Given the description of an element on the screen output the (x, y) to click on. 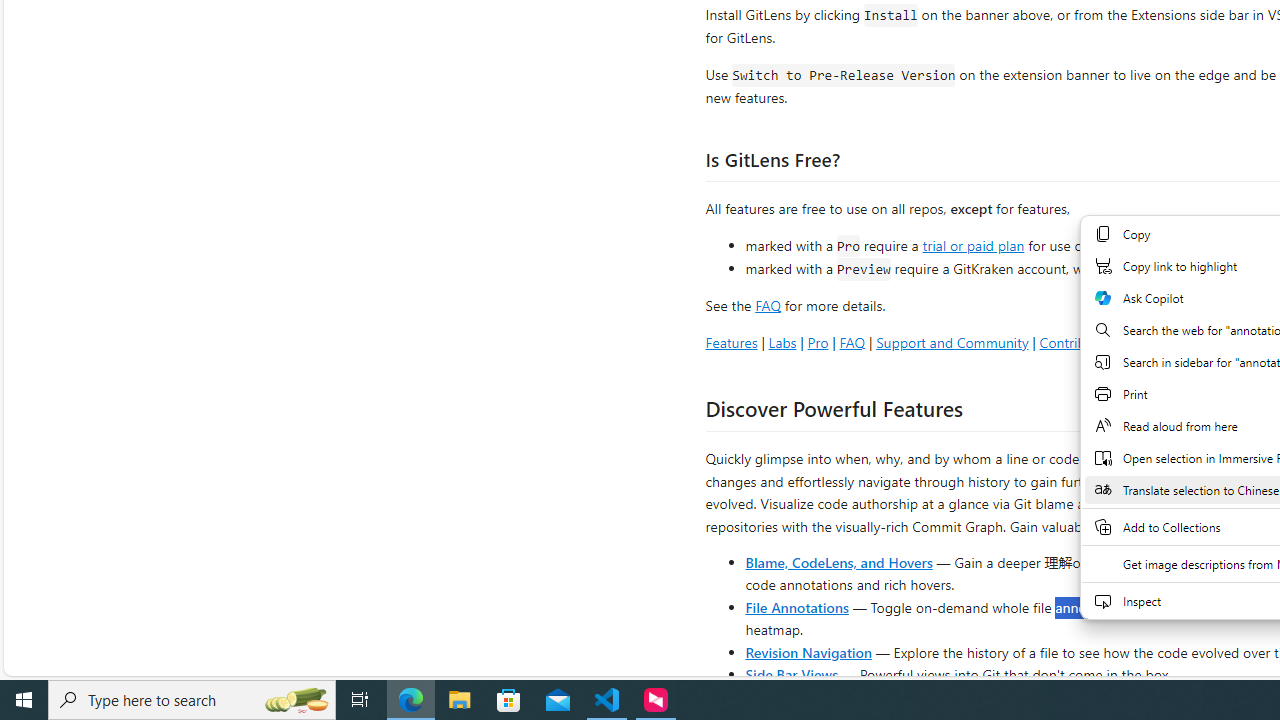
Contributors (1167, 341)
Revision Navigation (807, 651)
Support and Community (952, 341)
FAQ (852, 341)
trial or paid plan (973, 244)
License (1240, 341)
Blame, CodeLens, and Hovers (838, 561)
Labs (782, 341)
Features (731, 341)
Pro (817, 341)
Side Bar Views (791, 673)
File Annotations (796, 606)
Contributing (1078, 341)
